Given the description of an element on the screen output the (x, y) to click on. 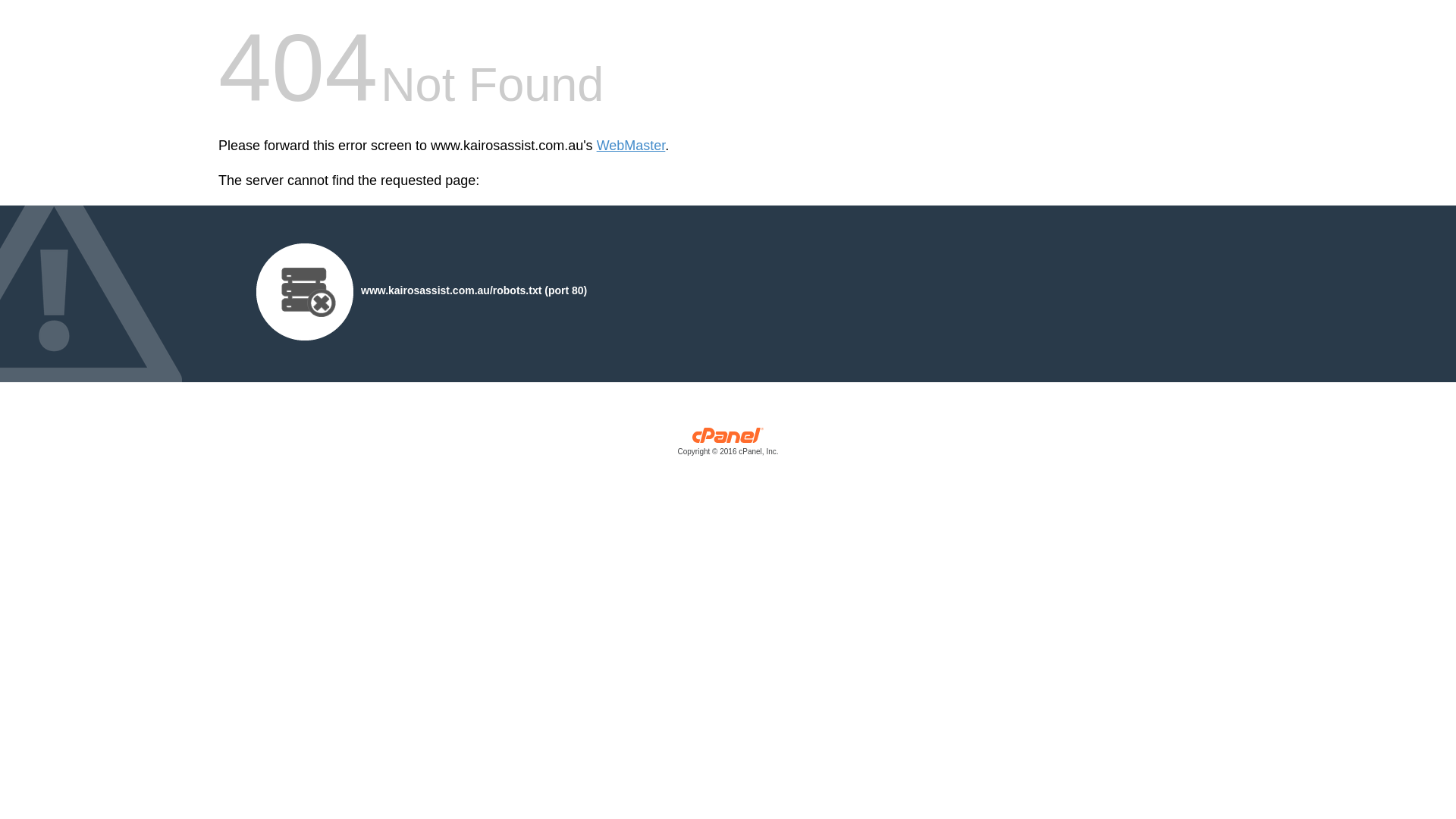
WebMaster Element type: text (630, 145)
